Given the description of an element on the screen output the (x, y) to click on. 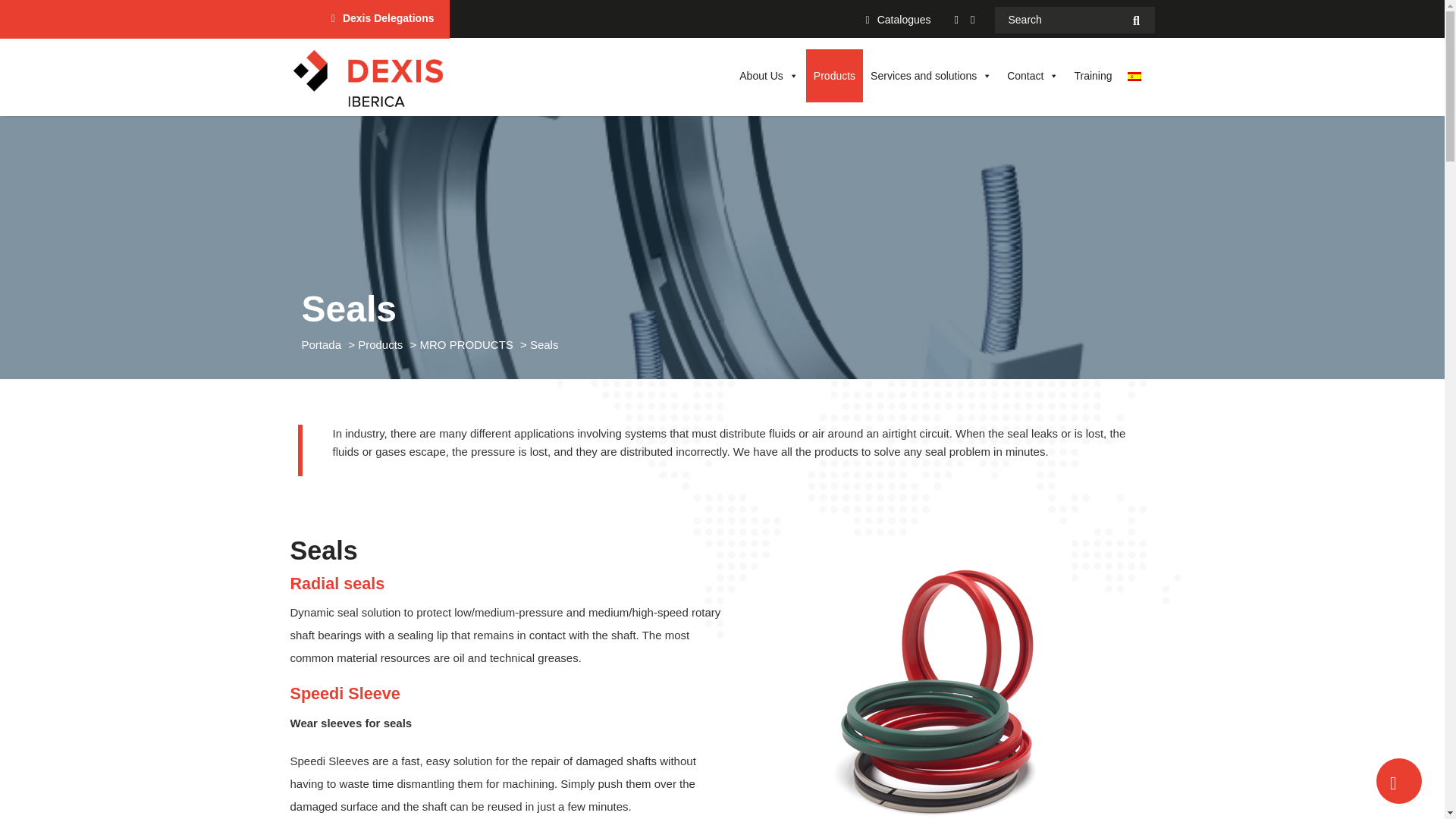
Dexis Delegations (387, 18)
Services and solutions (930, 75)
About Us (769, 75)
Contact (1031, 75)
Catalogues (904, 19)
Portada (323, 344)
MRO PRODUCTS (467, 344)
Products (382, 344)
Products (834, 75)
Training (1092, 75)
